Given the description of an element on the screen output the (x, y) to click on. 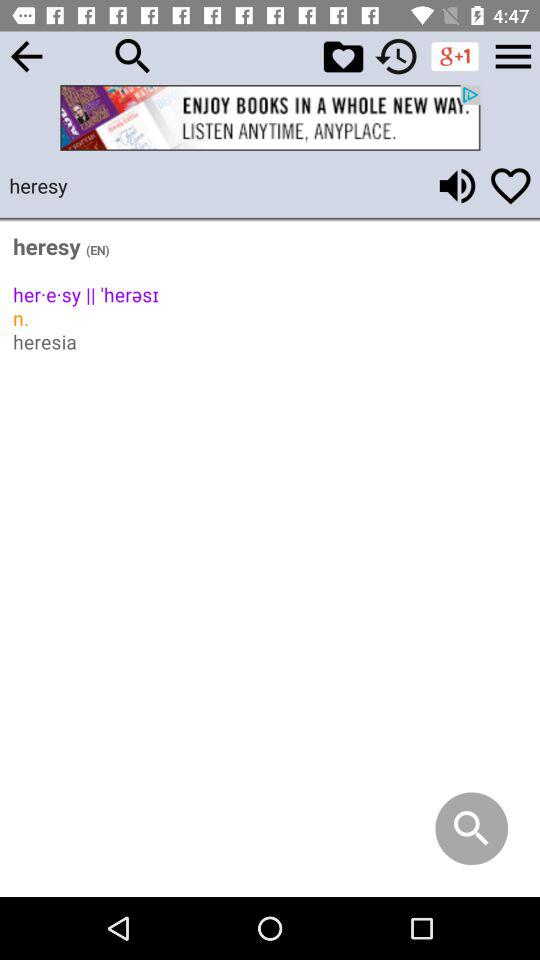
hear word pronunciation (457, 185)
